Given the description of an element on the screen output the (x, y) to click on. 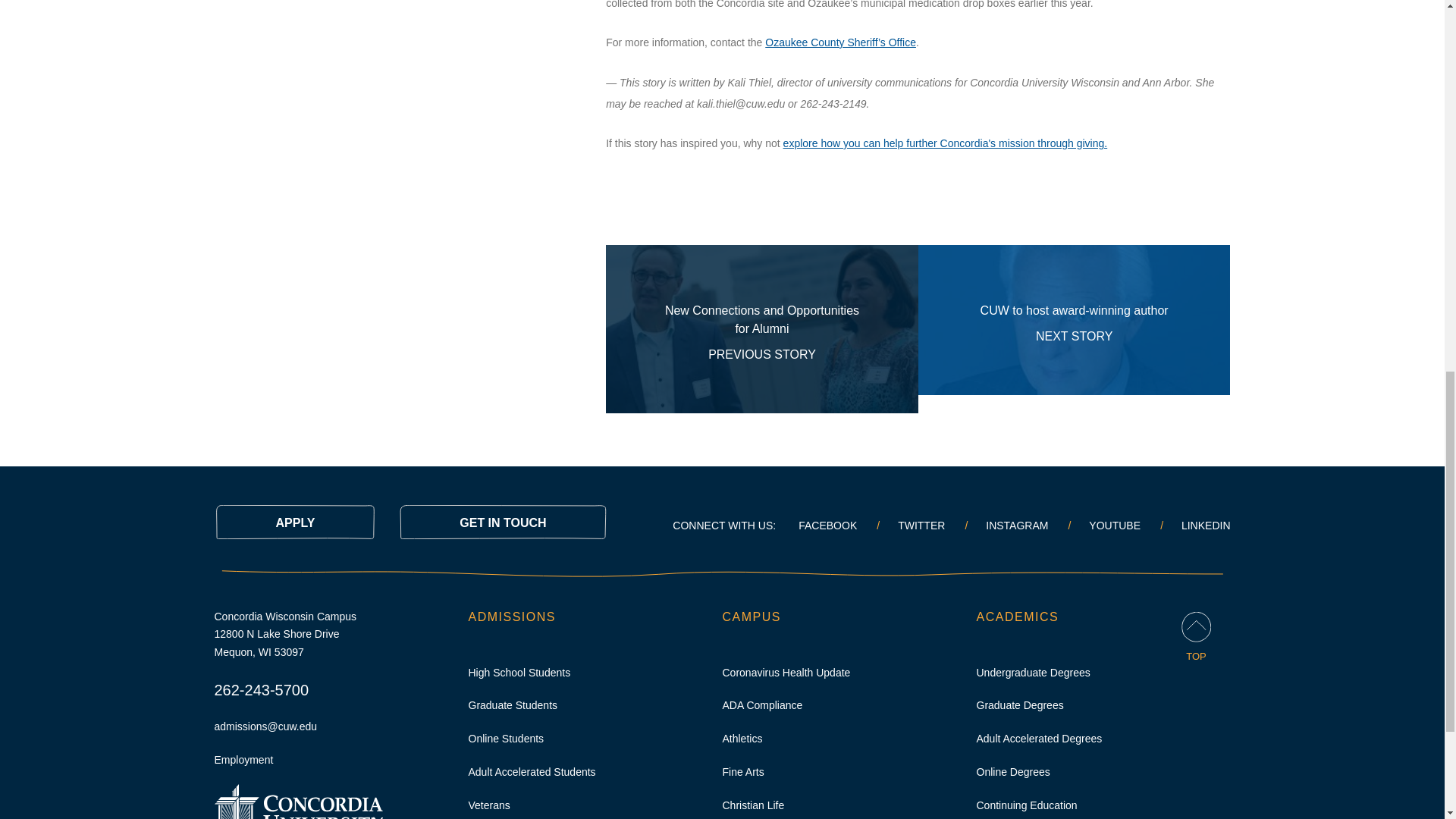
CUW Home Page (297, 812)
Learn more about ADA Compliance on the CUW Campus. (1074, 328)
APPLY (762, 705)
TOP (761, 328)
